Given the description of an element on the screen output the (x, y) to click on. 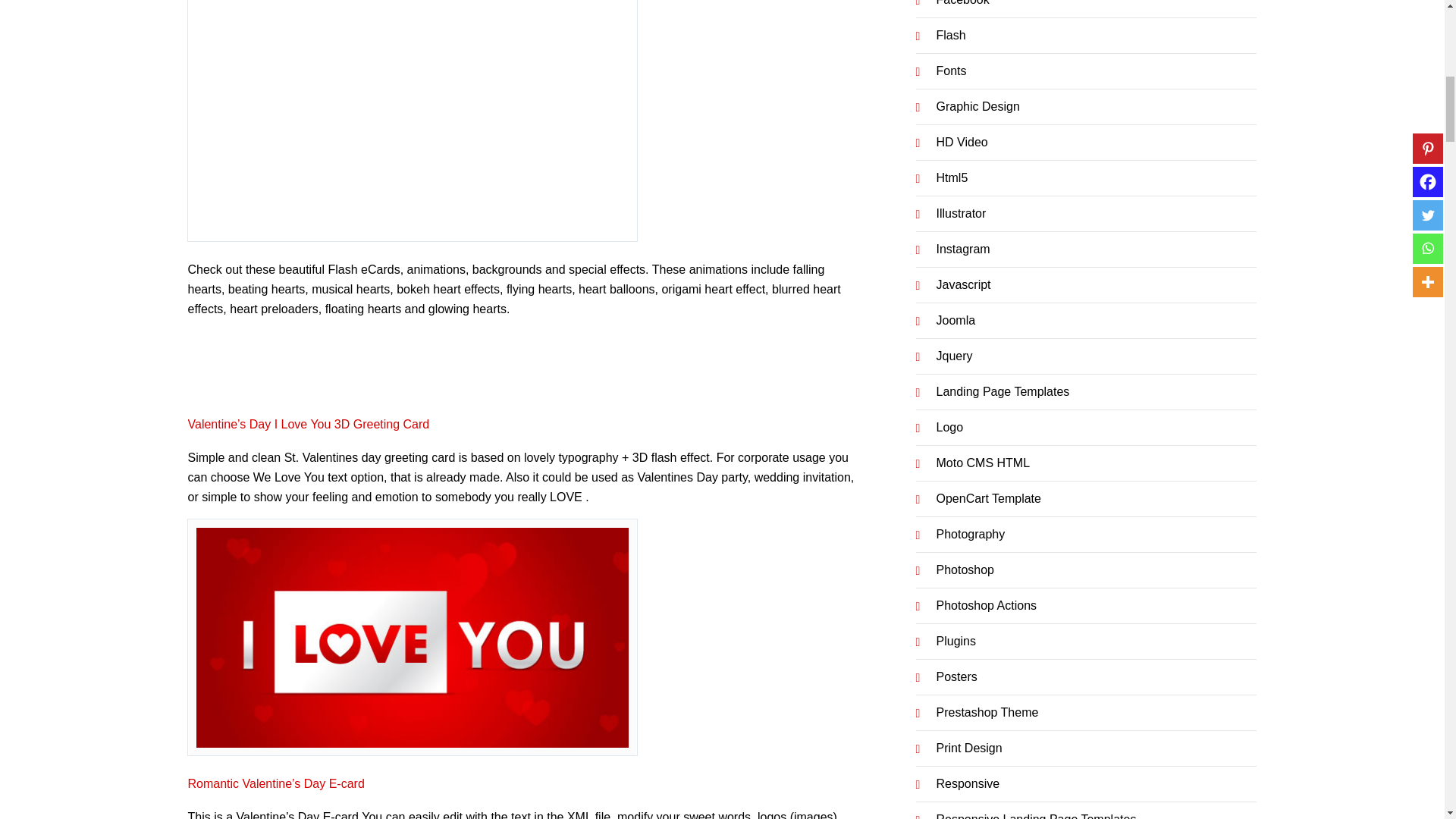
Advertisement (412, 117)
